Given the description of an element on the screen output the (x, y) to click on. 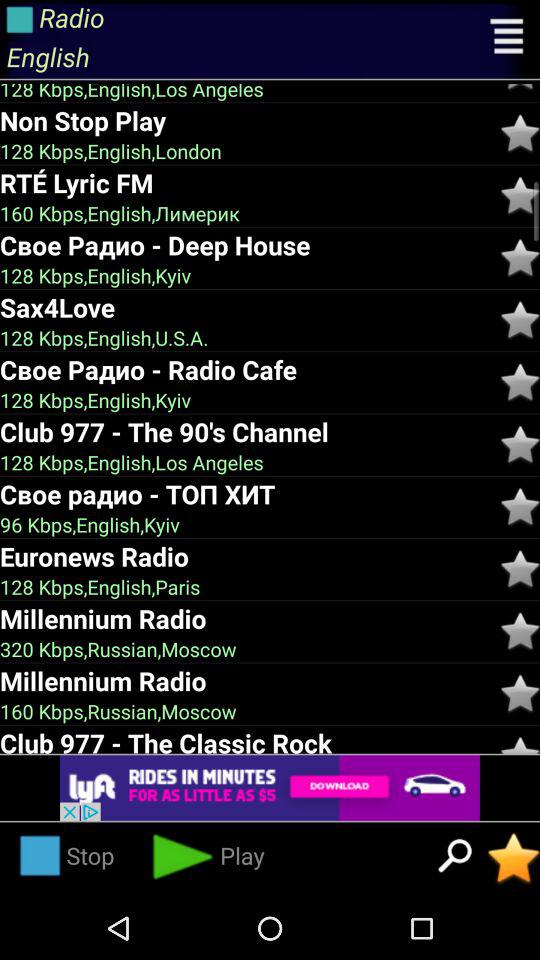
make it favourite (520, 382)
